Given the description of an element on the screen output the (x, y) to click on. 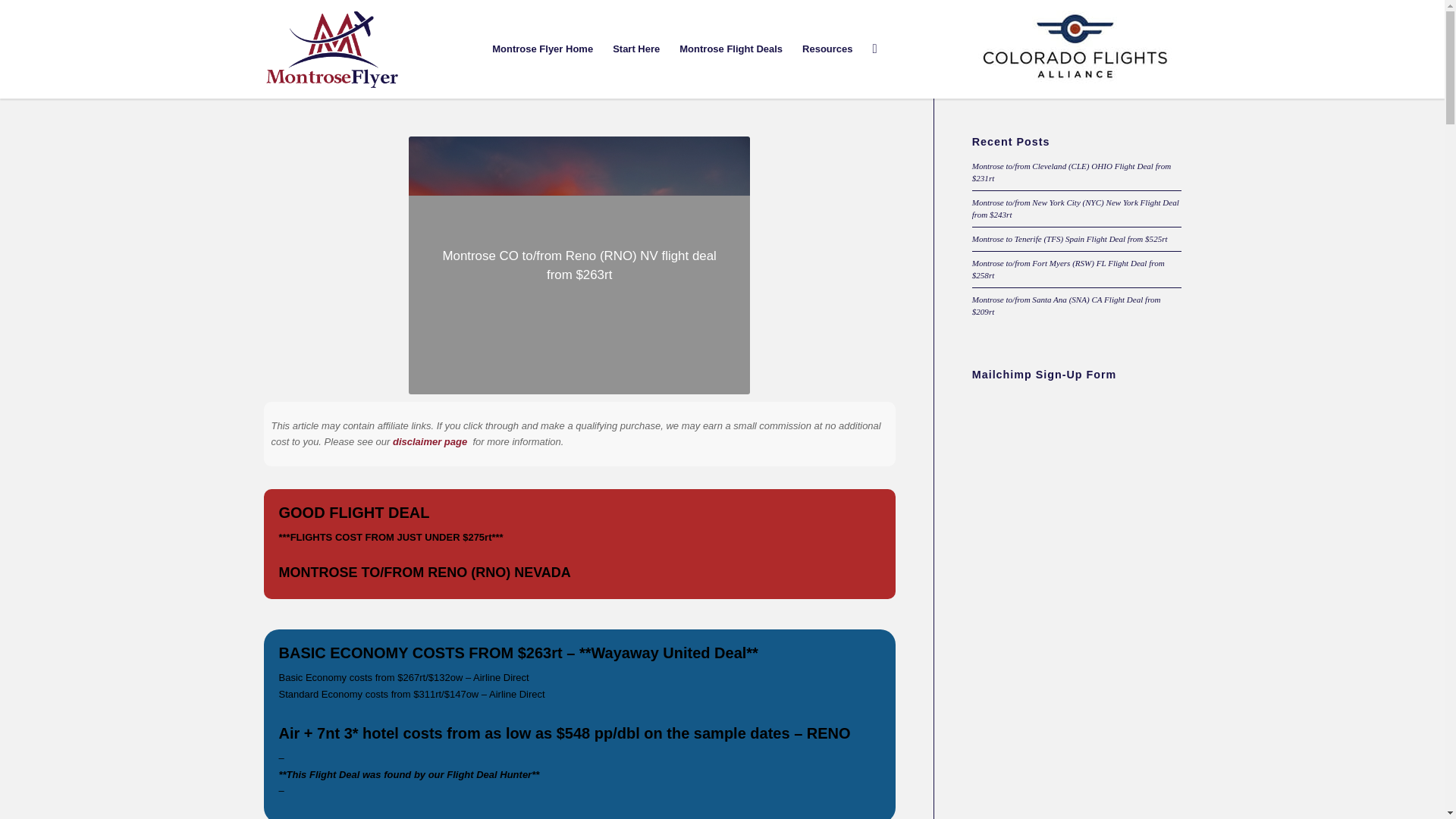
disclaimer page (430, 441)
Montrose Flyer Home (541, 49)
Montrose-Flyer-Logo (331, 48)
Montrose Flight Deals (730, 49)
